Given the description of an element on the screen output the (x, y) to click on. 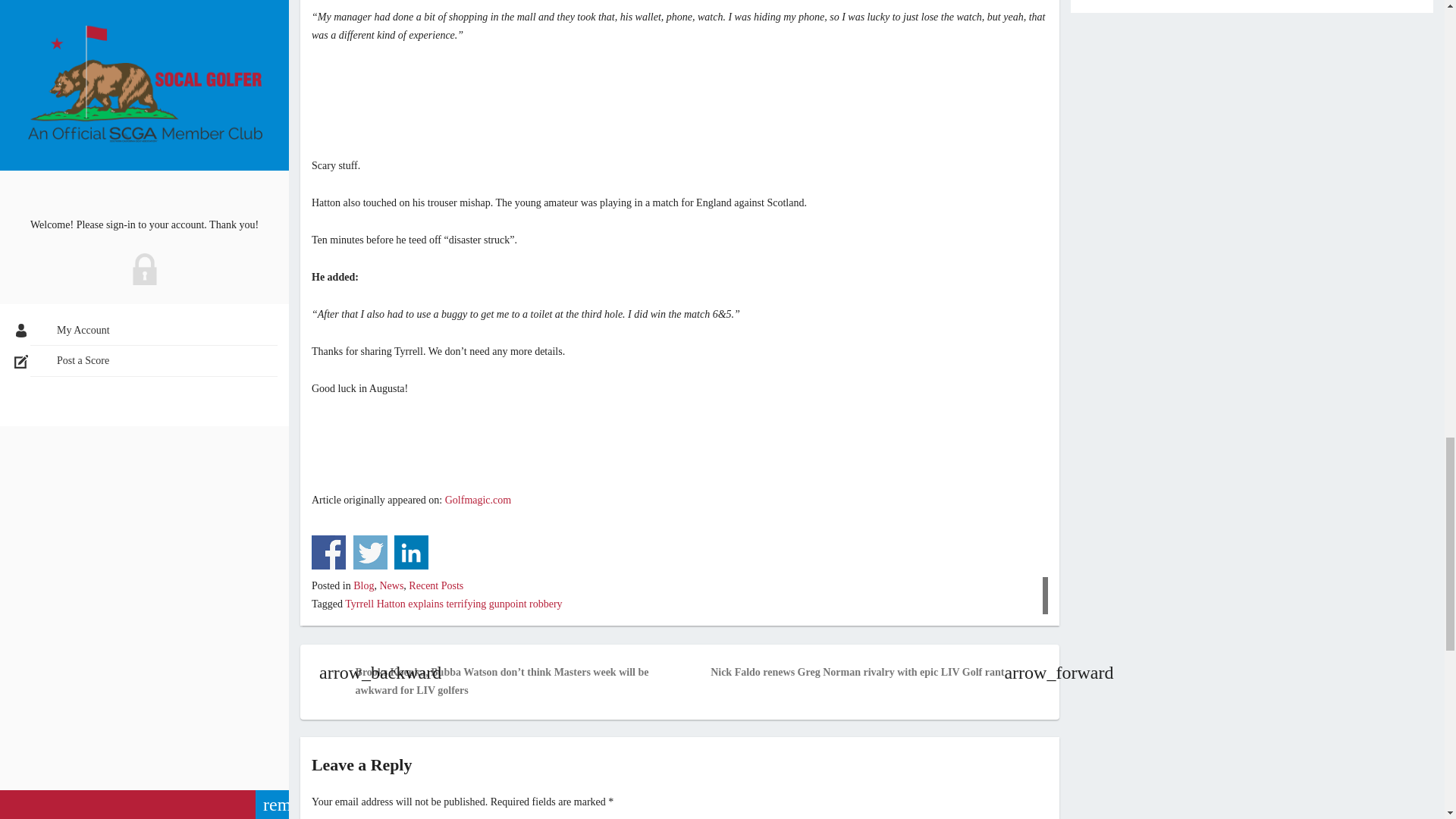
Share on Twitter (370, 552)
Golfmagic.com (478, 500)
Share on Linkedin (411, 552)
Tyrrell Hatton explains terrifying gunpoint robbery (453, 603)
Share on Facebook (328, 552)
Blog (363, 585)
News (390, 585)
Recent Posts (436, 585)
